Given the description of an element on the screen output the (x, y) to click on. 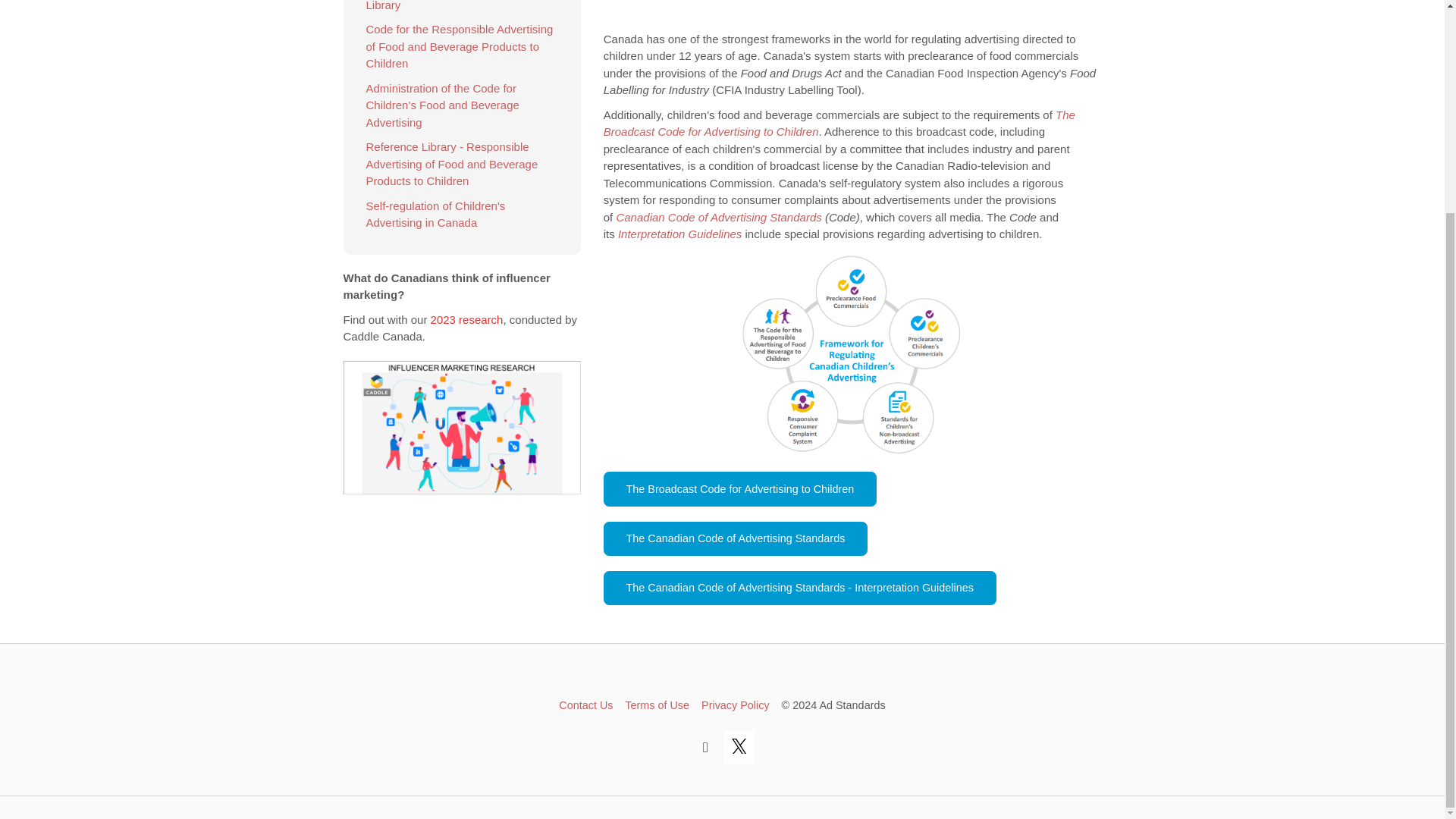
Ad Standards on Linkedin (704, 746)
